Given the description of an element on the screen output the (x, y) to click on. 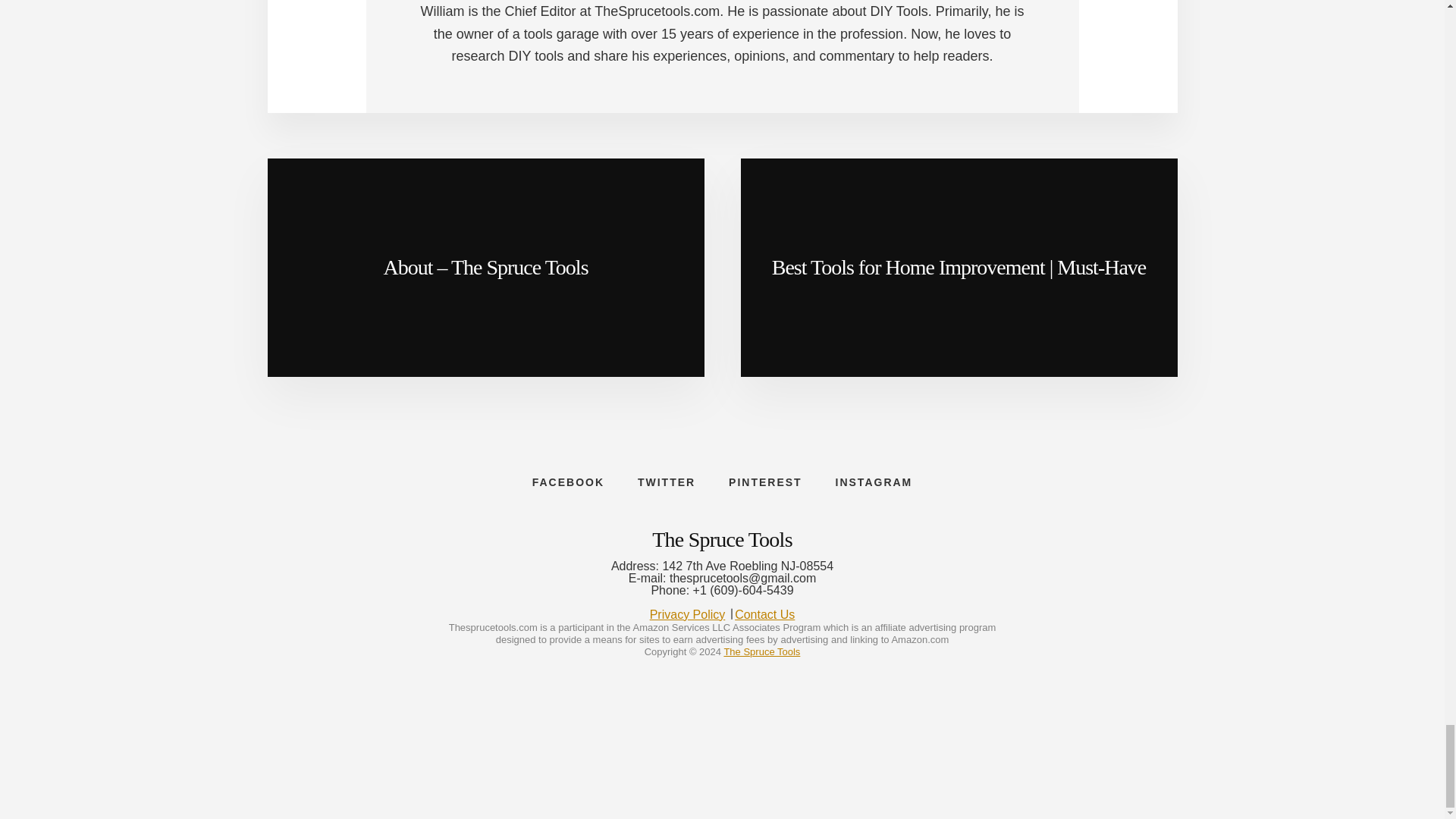
DMCA.com Protection Status (721, 767)
